Given the description of an element on the screen output the (x, y) to click on. 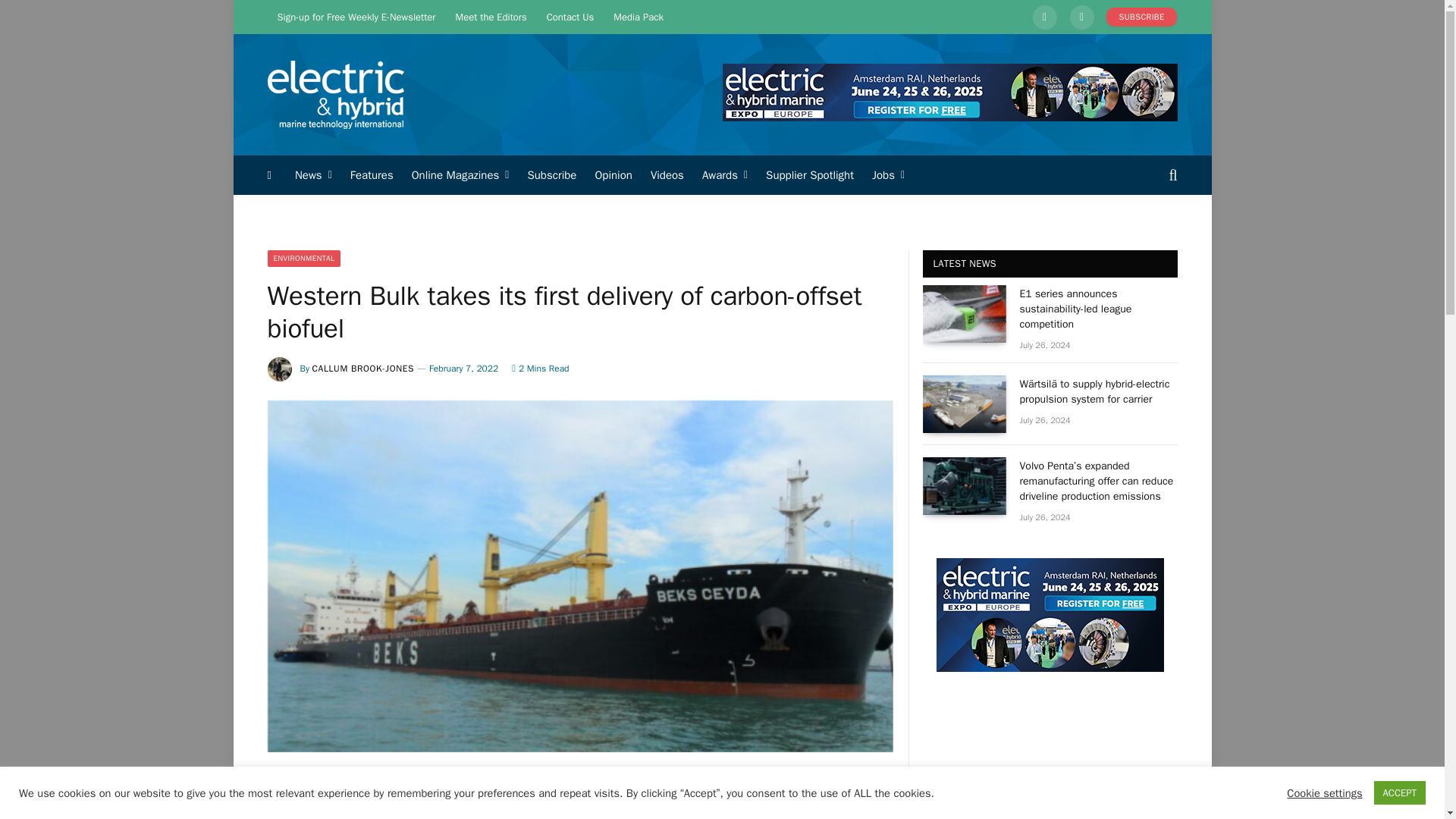
Posts by Callum Brook-Jones (363, 368)
Media Pack (638, 17)
Contact Us (570, 17)
Electric Hybrid Marine Technology (334, 94)
SUBSCRIBE (1141, 16)
Facebook (1081, 17)
Meet the Editors (491, 17)
Sign-up for Free Weekly E-Newsletter (355, 17)
LinkedIn (1045, 17)
News (312, 174)
